Given the description of an element on the screen output the (x, y) to click on. 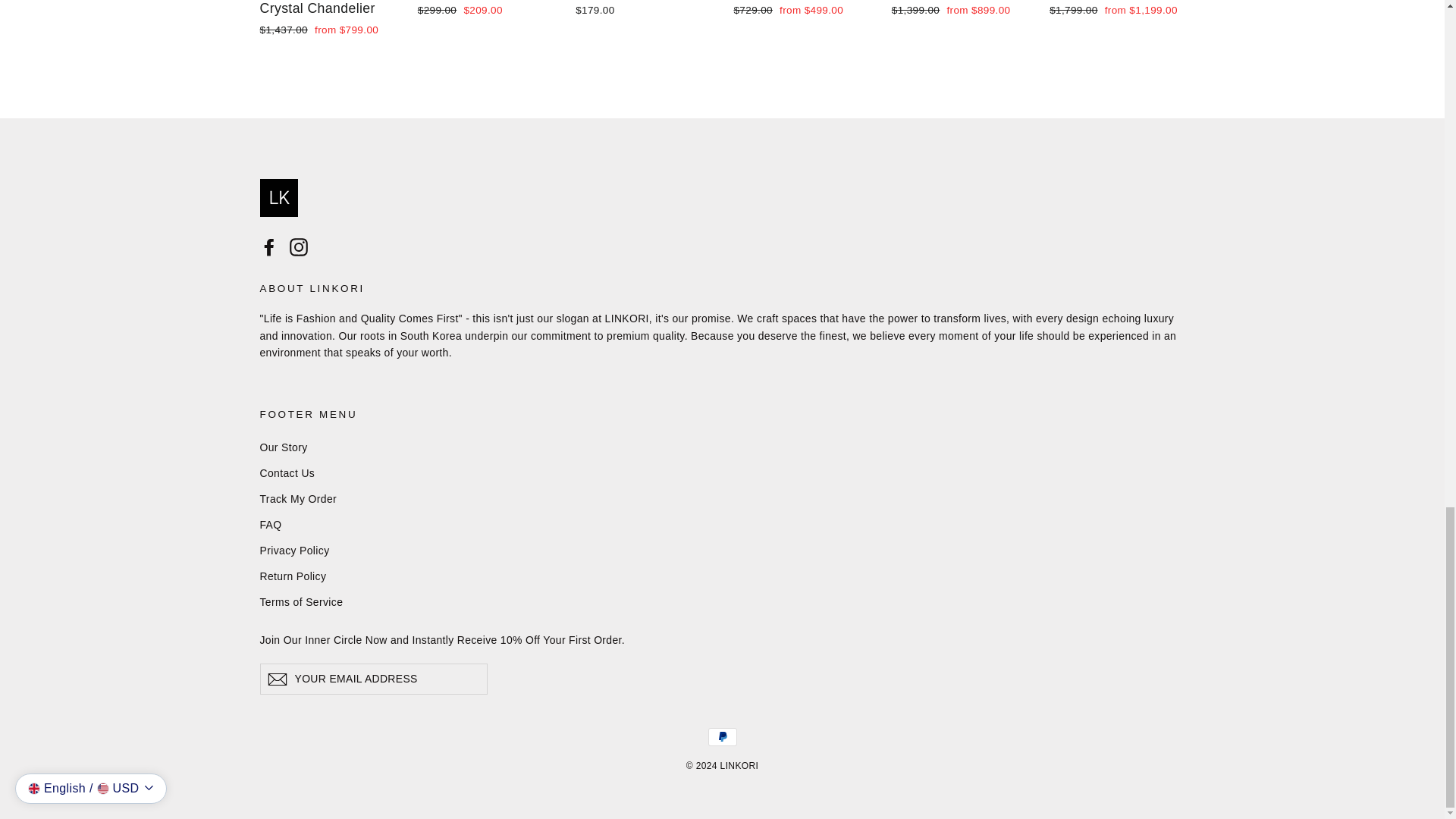
LINKORI on Facebook (268, 246)
LINKORI on Instagram (298, 246)
